Given the description of an element on the screen output the (x, y) to click on. 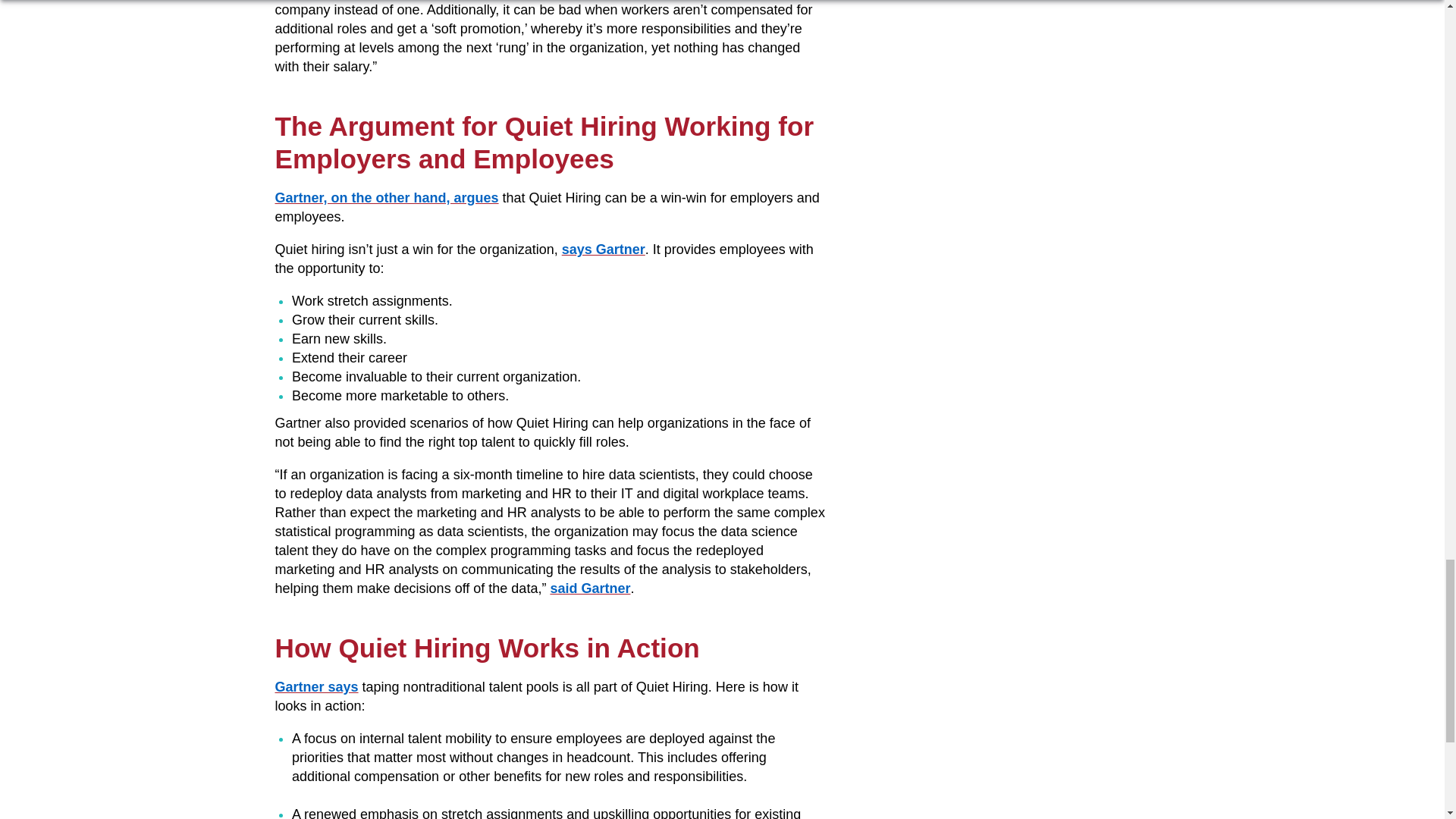
Gartner says (316, 686)
says Gartner (603, 249)
Gartner, on the other hand, argues (386, 197)
said Gartner (590, 588)
